Given the description of an element on the screen output the (x, y) to click on. 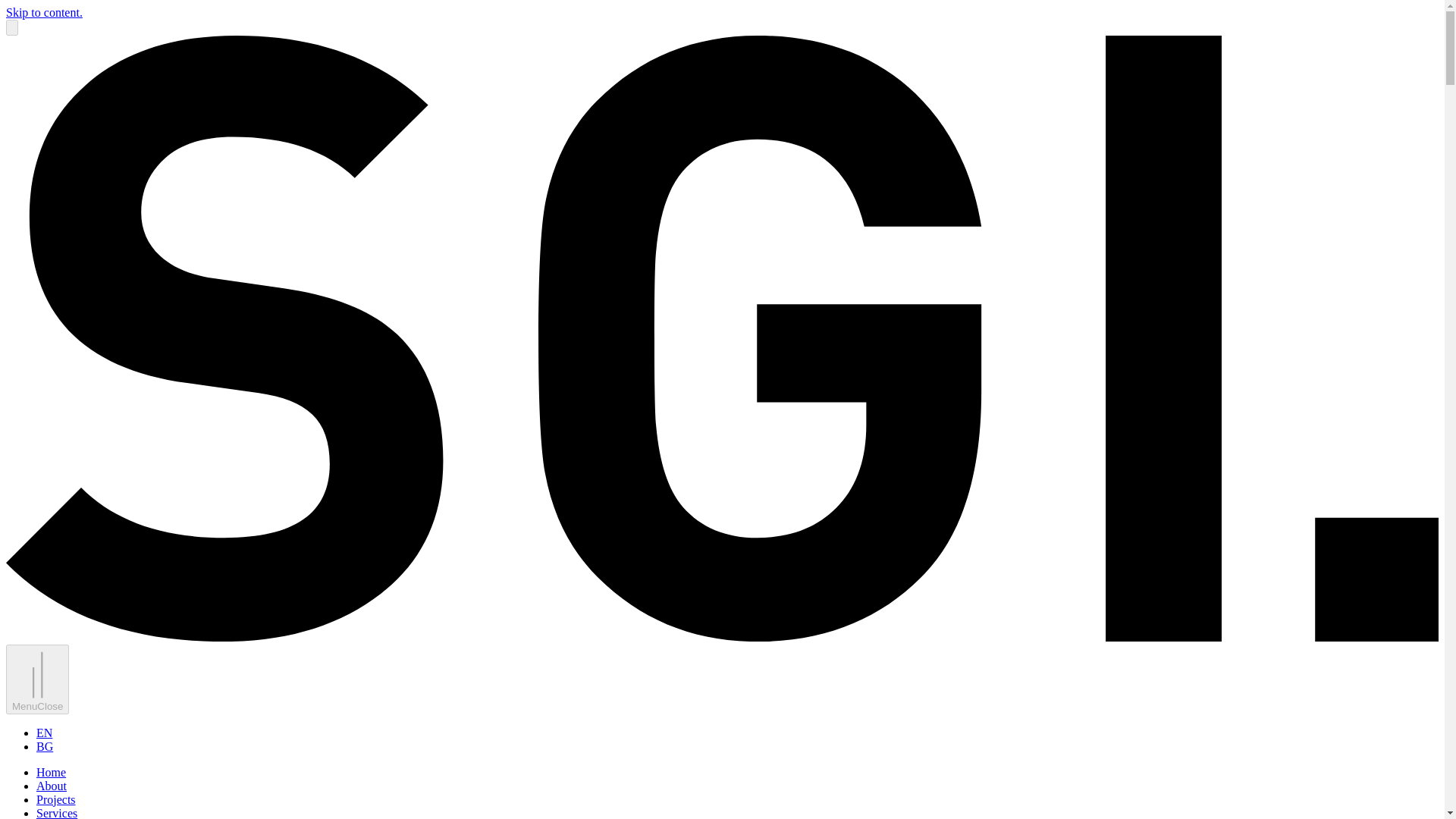
Skip to content. (43, 11)
Projects (55, 799)
About (51, 785)
Services (56, 812)
MenuClose (36, 678)
Home (50, 771)
BG (44, 746)
EN (44, 732)
